Given the description of an element on the screen output the (x, y) to click on. 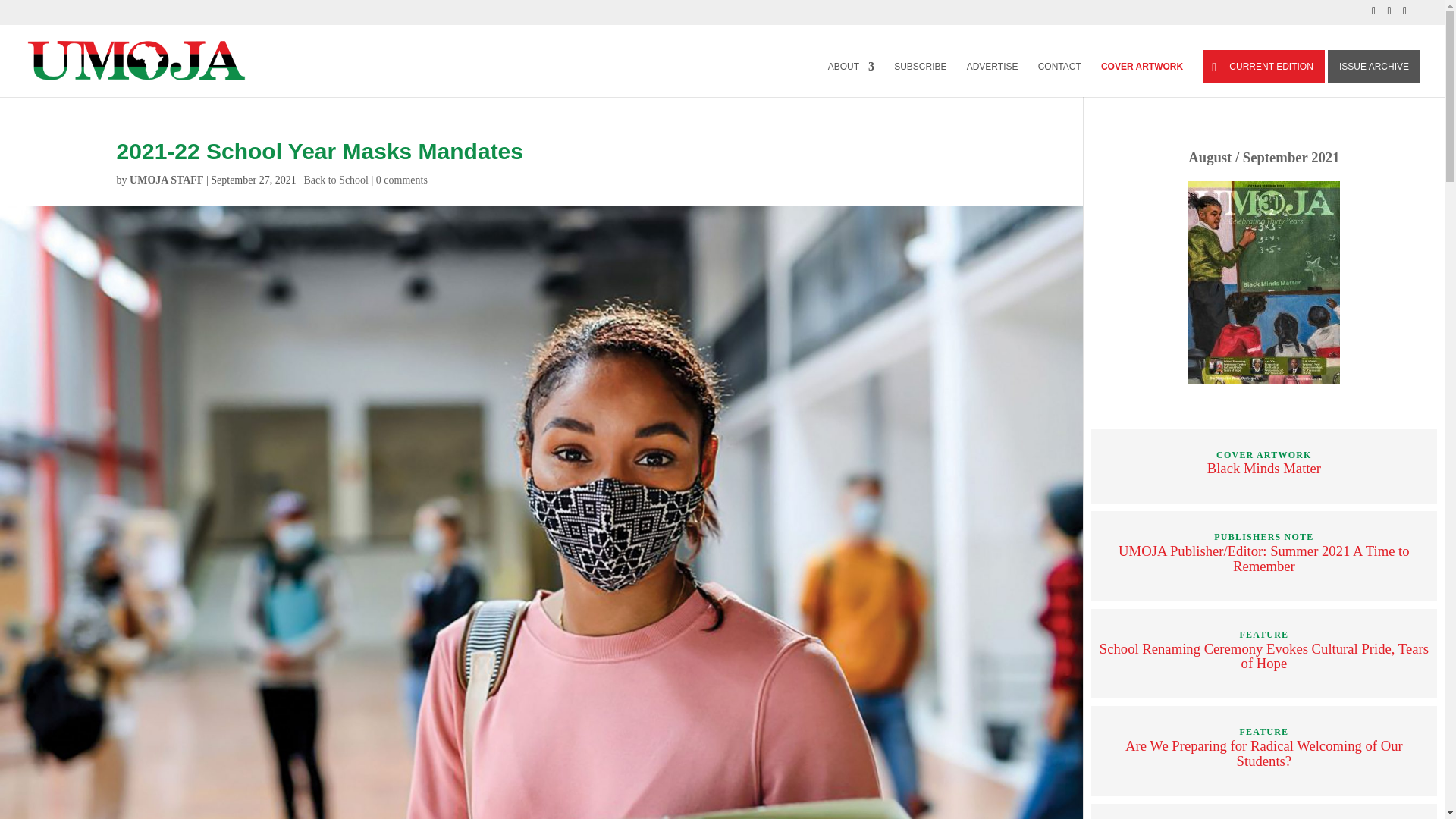
ABOUT (851, 78)
Black Minds Matter (1263, 467)
Back to School (335, 179)
CURRENT EDITION (1262, 66)
ADVERTISE (991, 78)
0 comments (401, 179)
Posts by UMOJA Staff (166, 179)
SUBSCRIBE (919, 78)
ISSUE ARCHIVE (1374, 66)
COVER ARTWORK (1141, 78)
UMOJA STAFF (166, 179)
CONTACT (1059, 78)
